Given the description of an element on the screen output the (x, y) to click on. 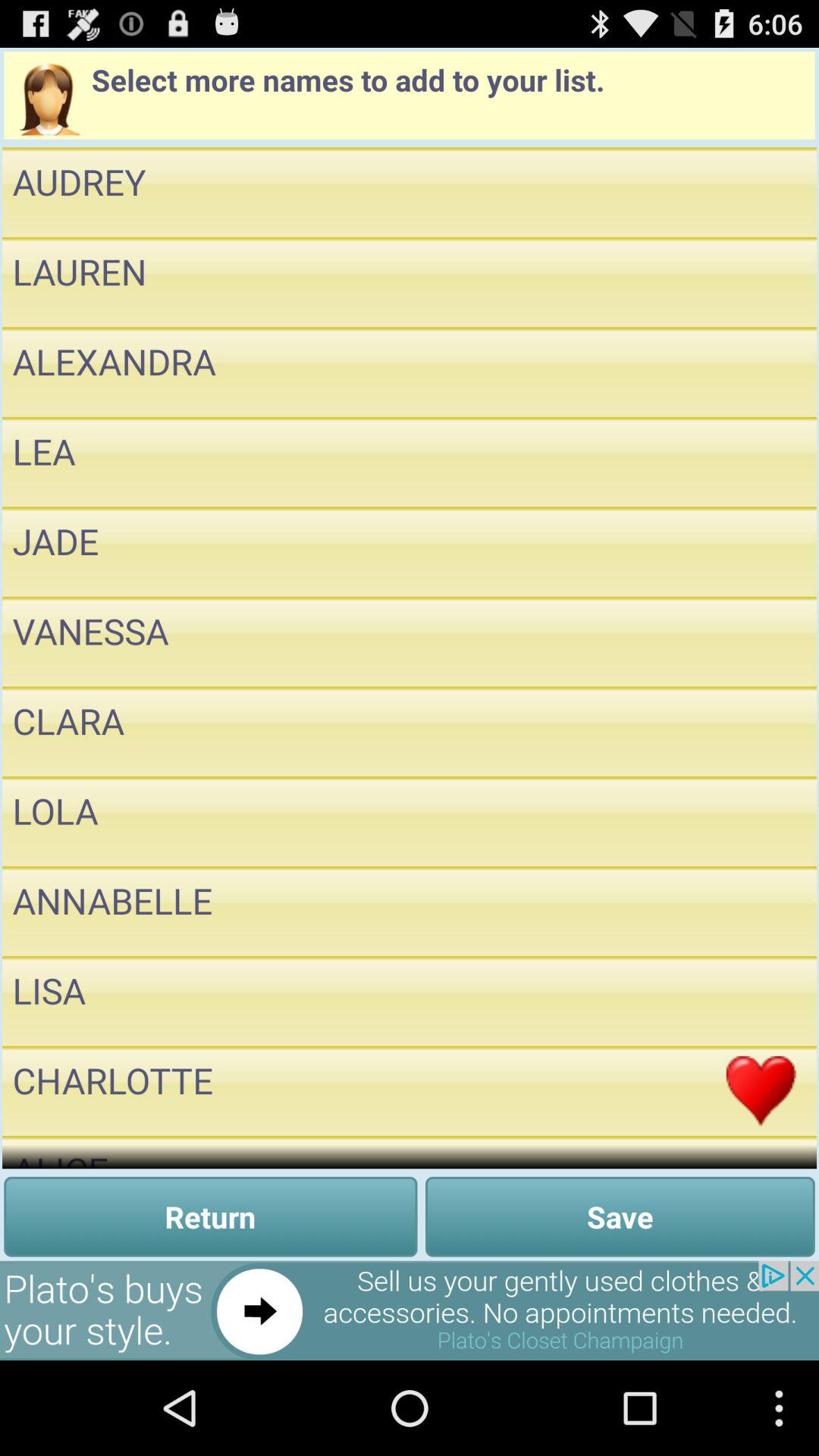
select name (761, 372)
